Given the description of an element on the screen output the (x, y) to click on. 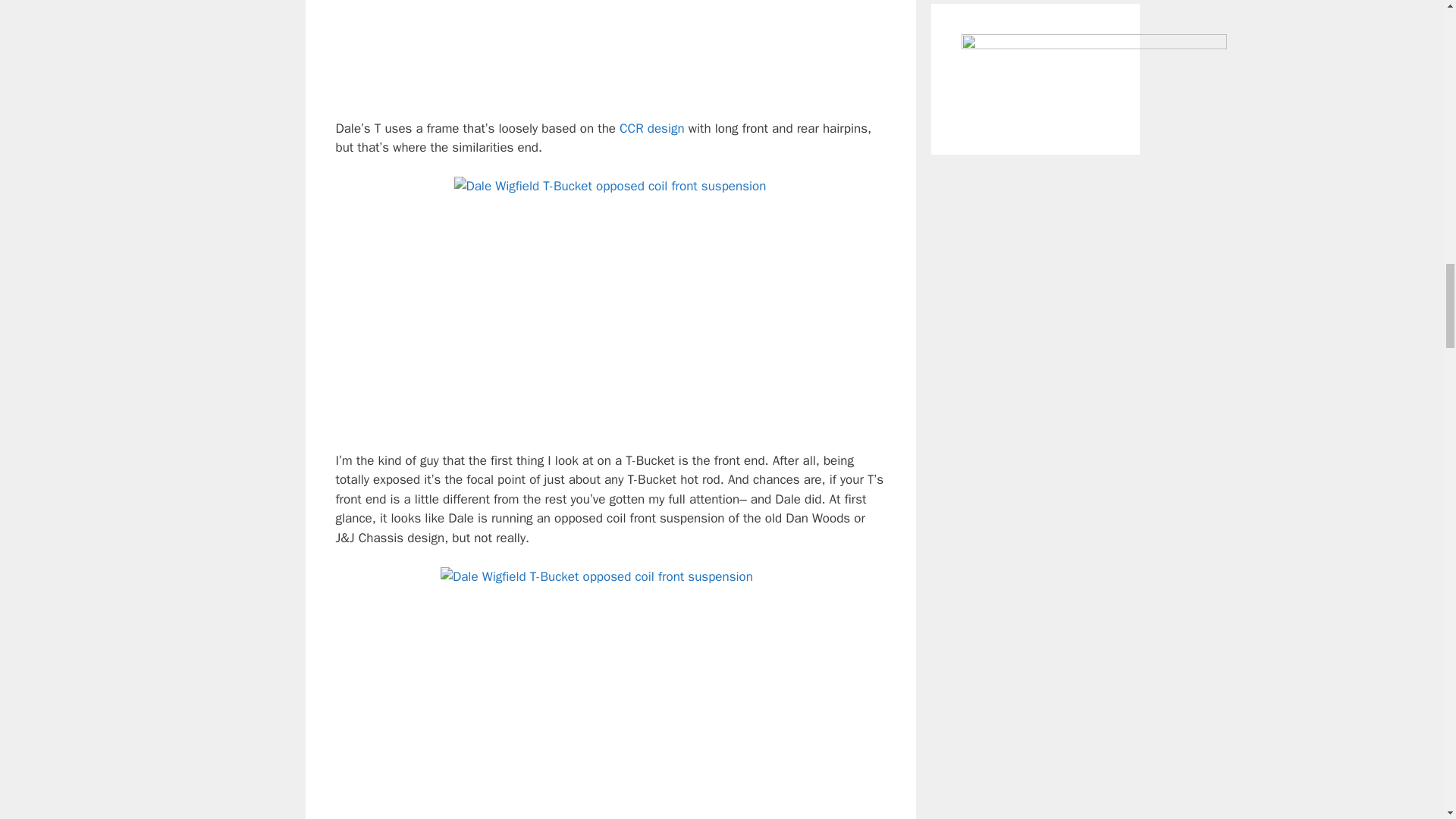
Dale Wigfield T-Bucket 08 (610, 49)
California Custom Roadster plans (652, 128)
Dale Wigfield T-Bucket 09 (610, 693)
CCR design (652, 128)
Dale Wigfield T-Bucket 03 (609, 303)
